Given the description of an element on the screen output the (x, y) to click on. 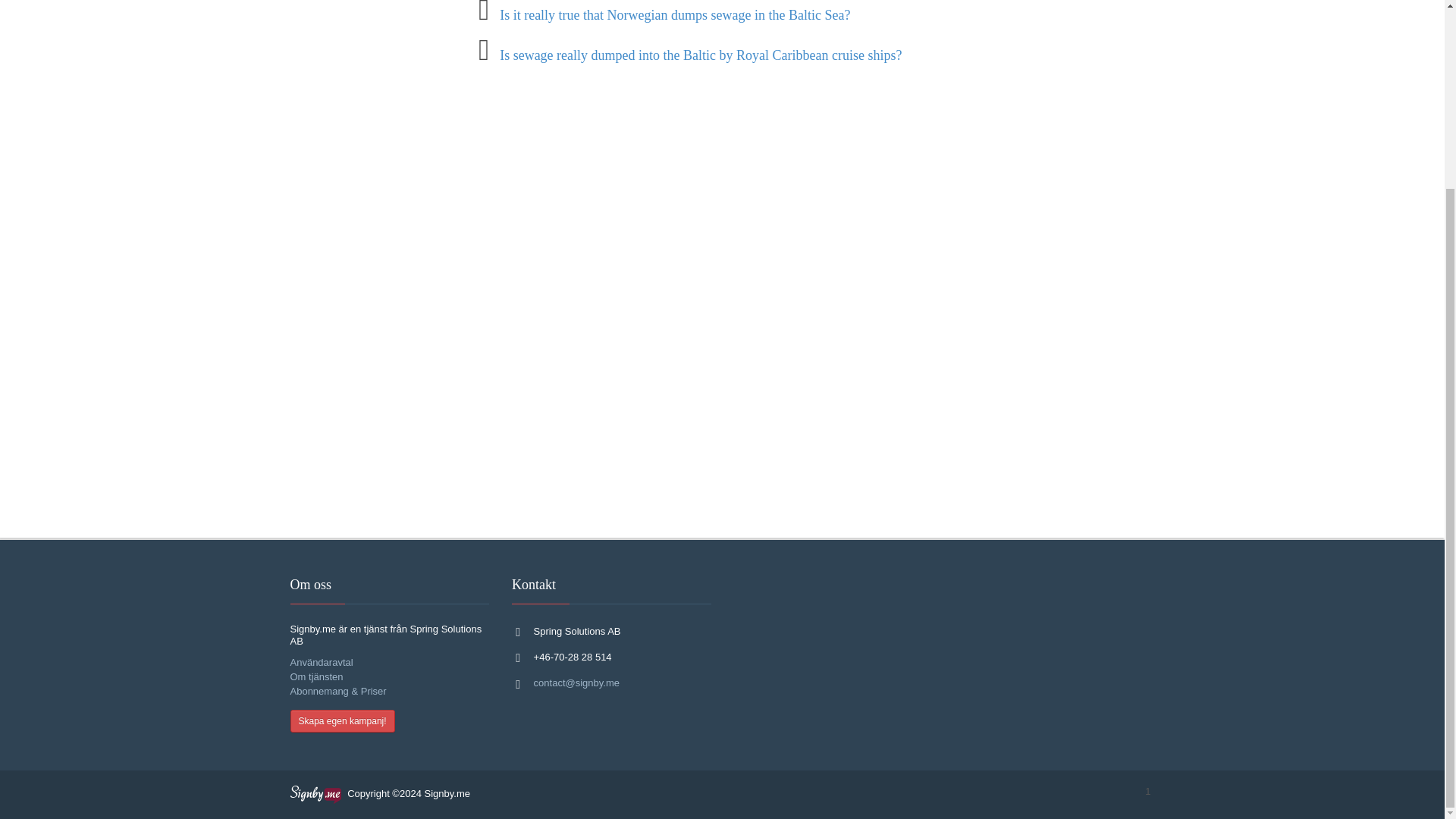
Skapa egen kampanj! (341, 721)
